Given the description of an element on the screen output the (x, y) to click on. 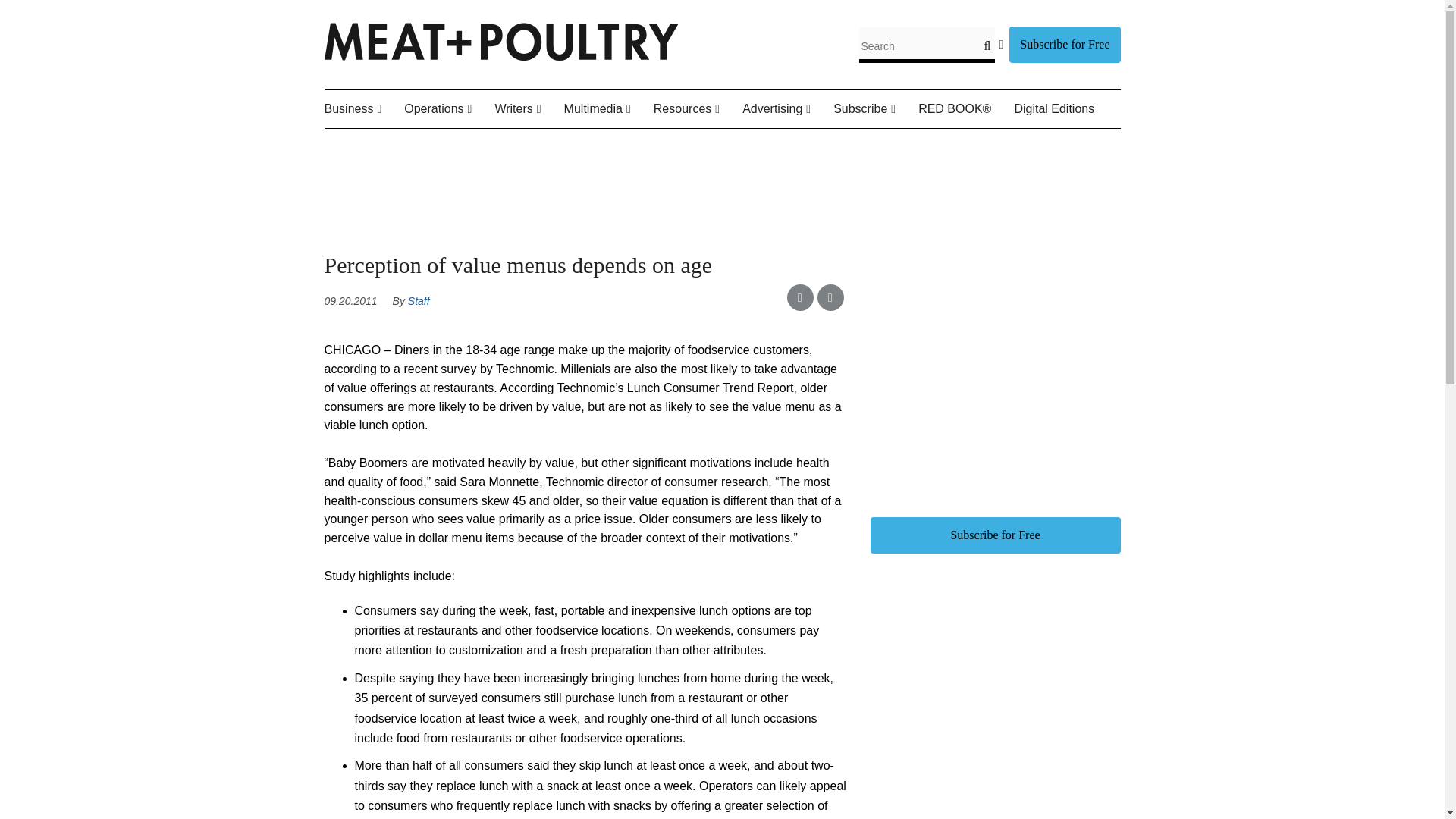
Ryan McCarthy (598, 144)
Agencies (400, 144)
People (419, 144)
Sanitation (499, 144)
Steve Kay (589, 144)
Food Safety (480, 144)
Business (364, 109)
Donna Berry (570, 144)
Meat Poultry (501, 56)
Steve Krut (593, 144)
